Given the description of an element on the screen output the (x, y) to click on. 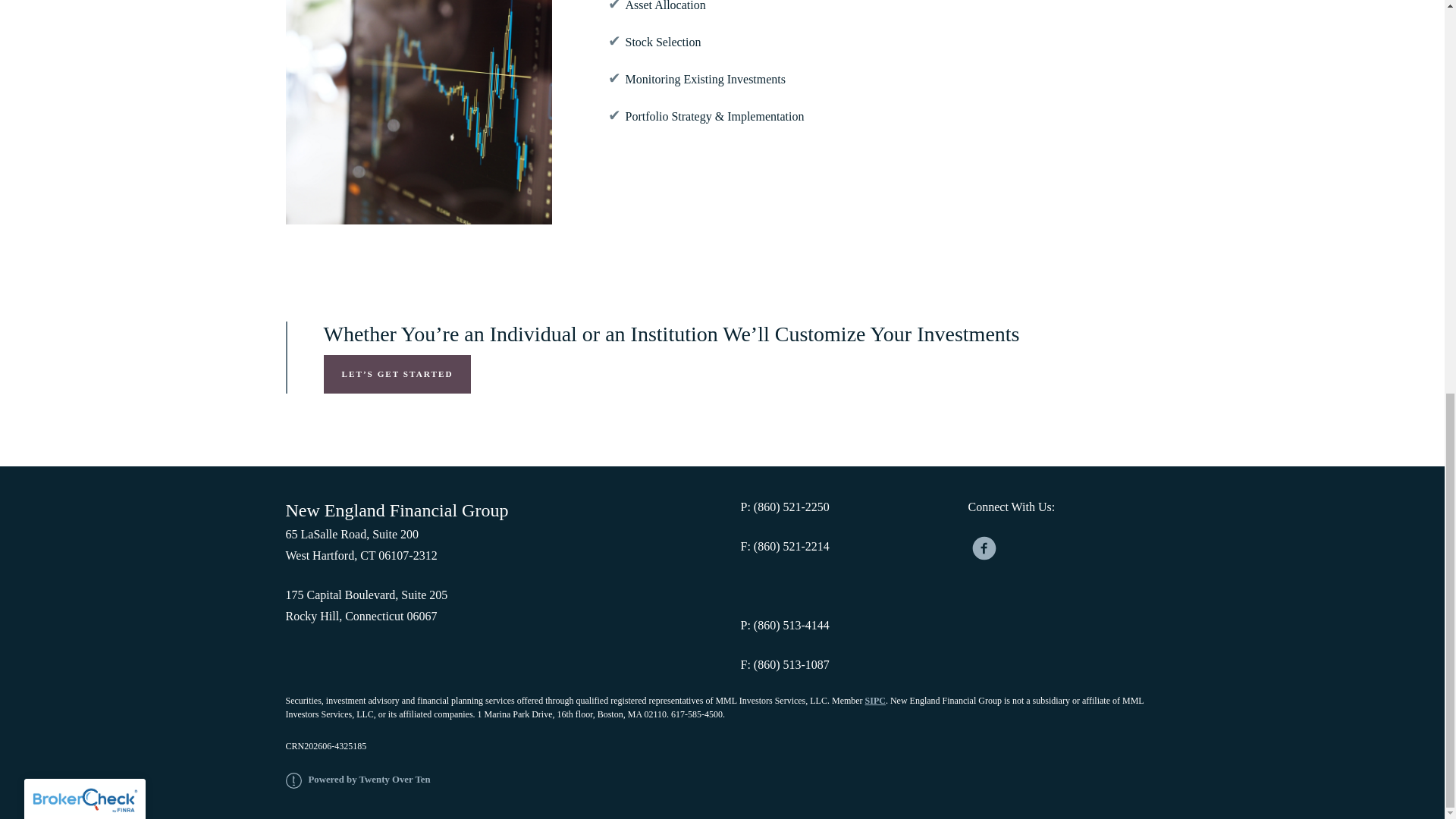
SIPC (874, 700)
Powered by Twenty Over Ten (357, 778)
